Given the description of an element on the screen output the (x, y) to click on. 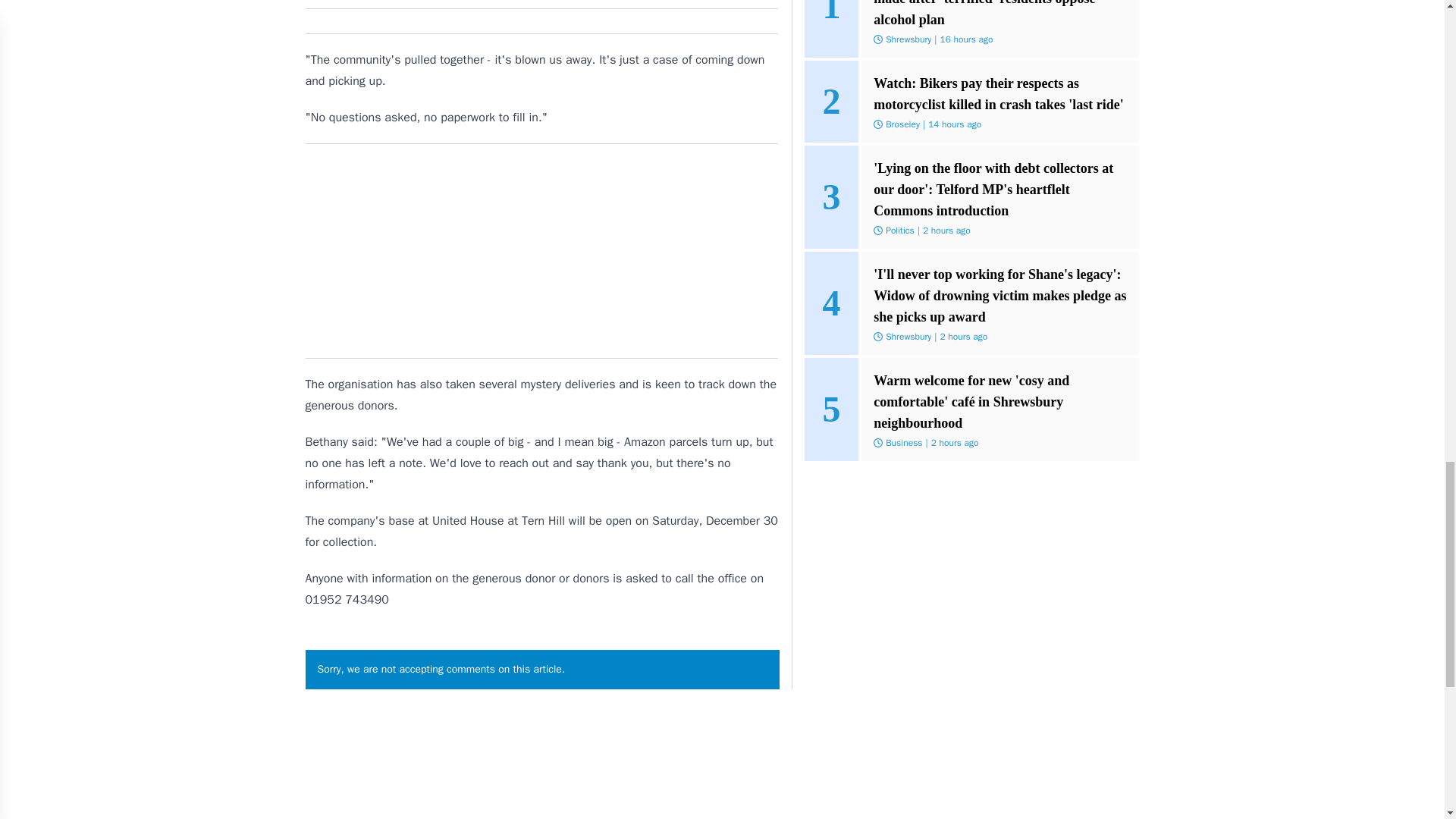
Shrewsbury (908, 39)
Politics (899, 230)
Shrewsbury (908, 336)
Business (903, 442)
Broseley (902, 123)
